Given the description of an element on the screen output the (x, y) to click on. 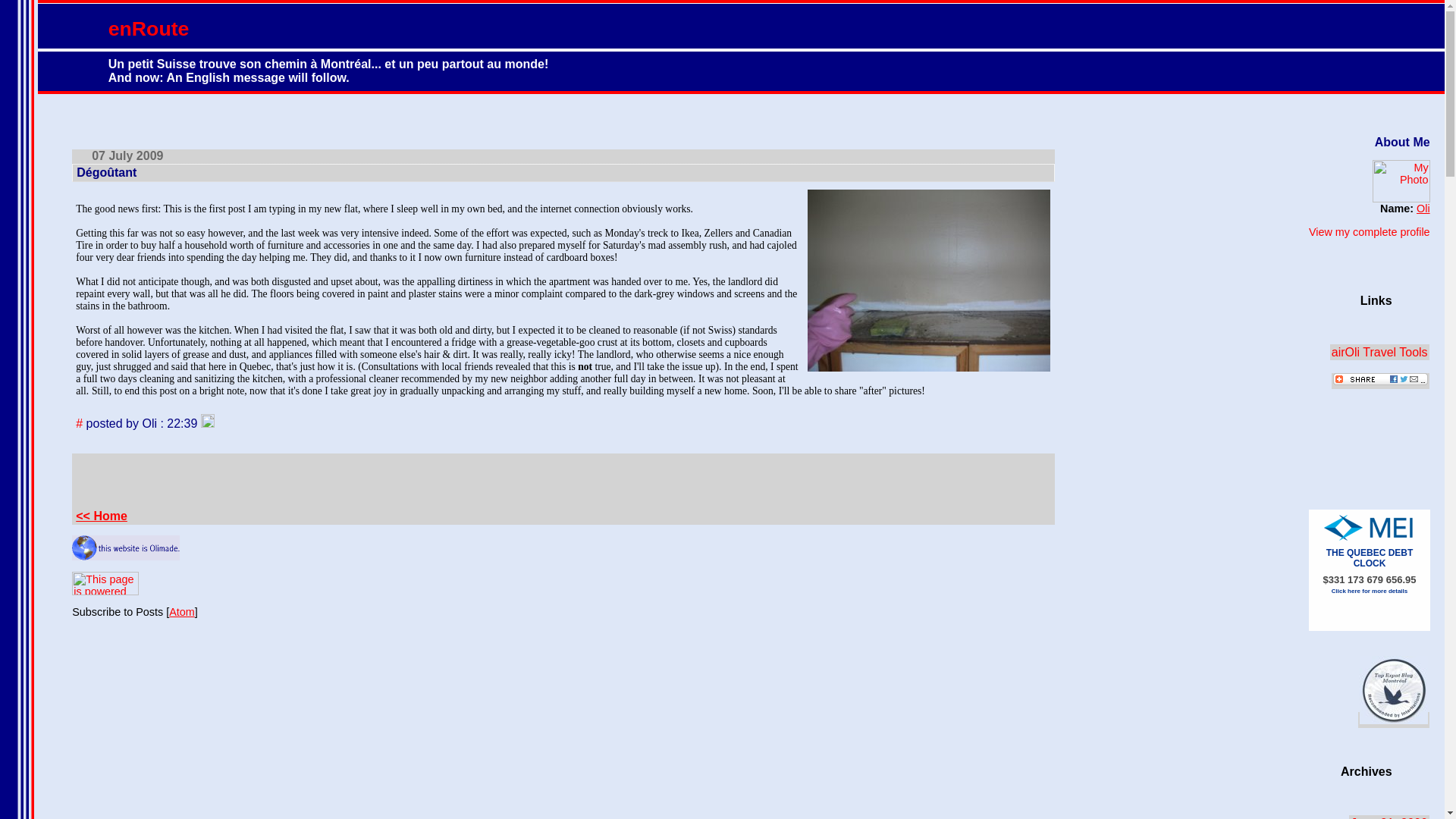
View my complete profile (1368, 232)
Atom (181, 612)
Oli (1422, 208)
enRoute (148, 28)
airOli Travel Tools (1379, 351)
Edit Post (207, 422)
June 21, 2009 (1388, 816)
